Given the description of an element on the screen output the (x, y) to click on. 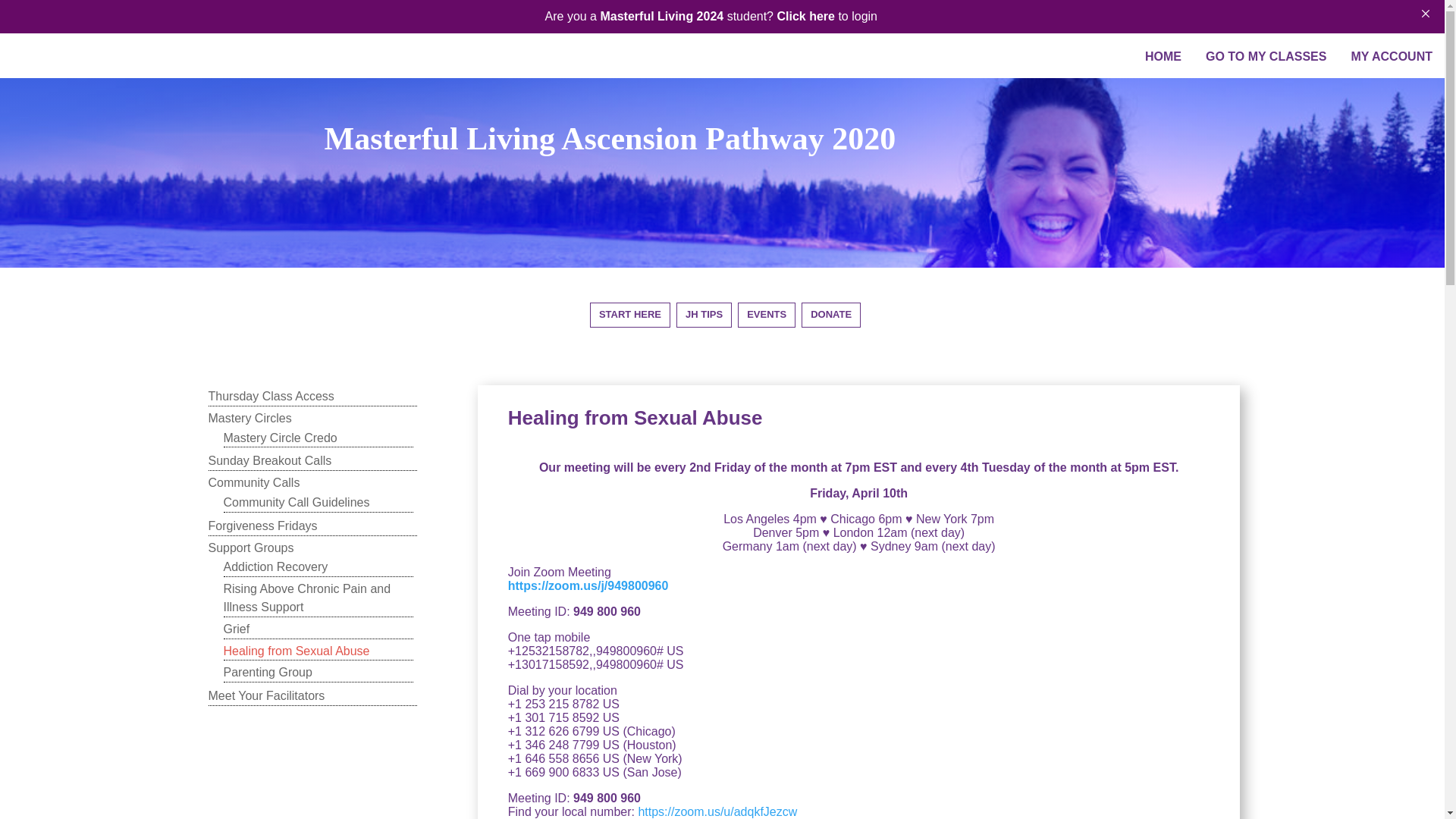
START HERE (629, 317)
DONATE (830, 317)
Click here (805, 15)
Rising Above Chronic Pain and Illness Support (317, 598)
EVENTS (766, 317)
Mastery Circles (312, 418)
Community Calls (312, 483)
Healing from Sexual Abuse (317, 651)
Forgiveness Fridays (312, 526)
Support Groups (312, 547)
Sunday Breakout Calls (312, 461)
Mastery Circle Credo (317, 438)
HOME (1162, 56)
Thursday Class Access (312, 396)
JH TIPS (703, 317)
